Given the description of an element on the screen output the (x, y) to click on. 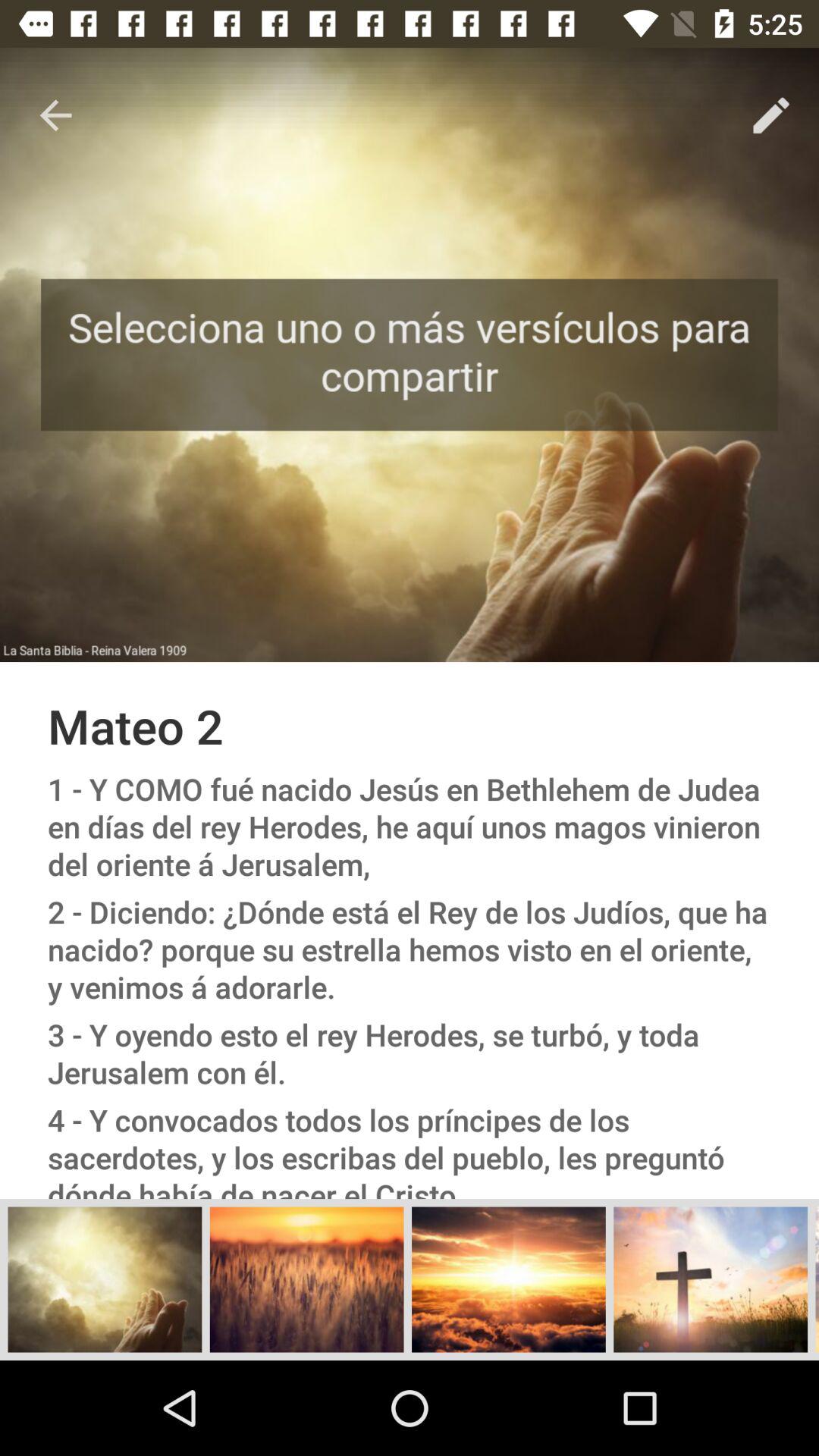
click the item at the top right corner (771, 115)
